Given the description of an element on the screen output the (x, y) to click on. 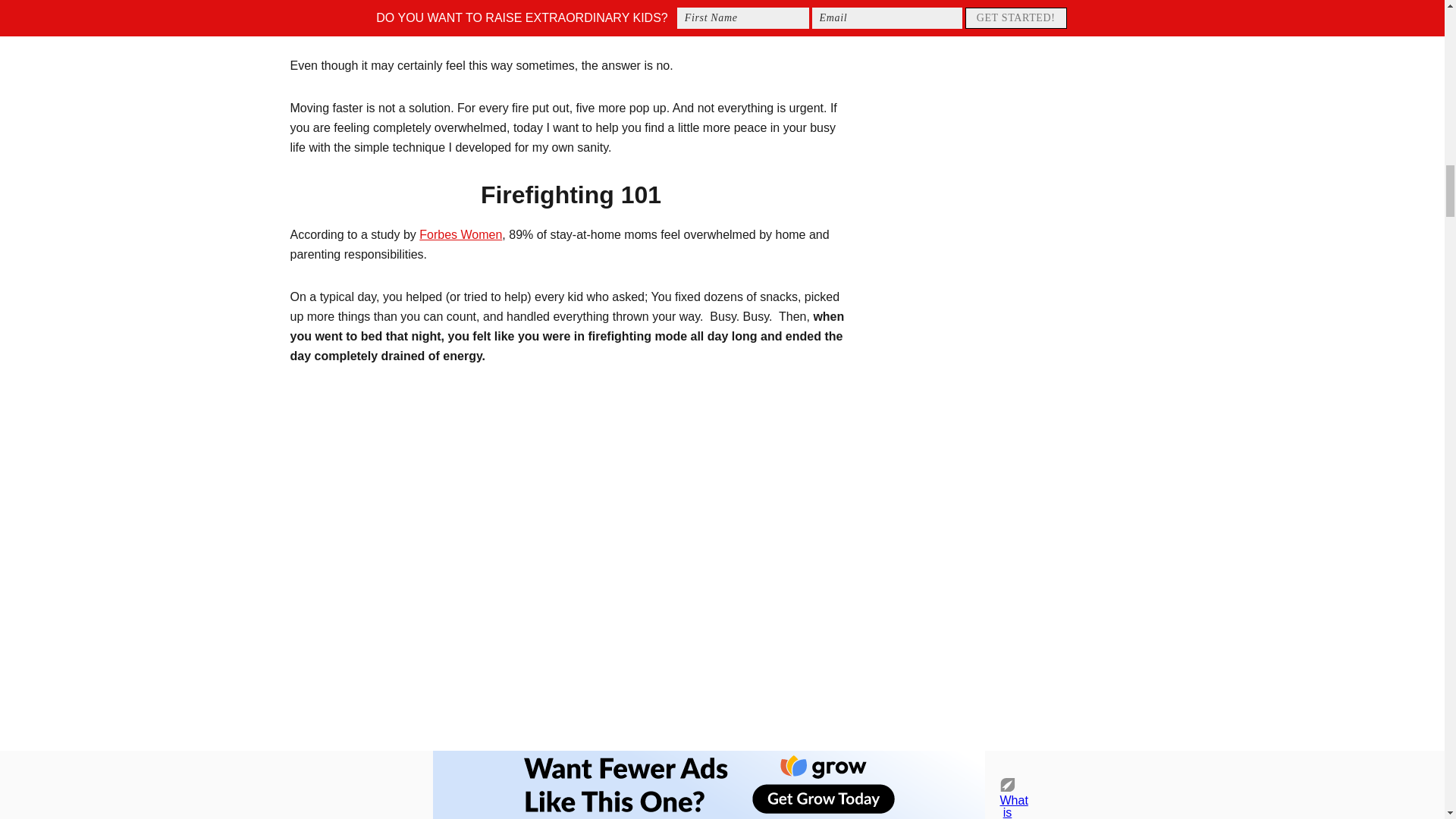
Forbes Women (460, 234)
